Given the description of an element on the screen output the (x, y) to click on. 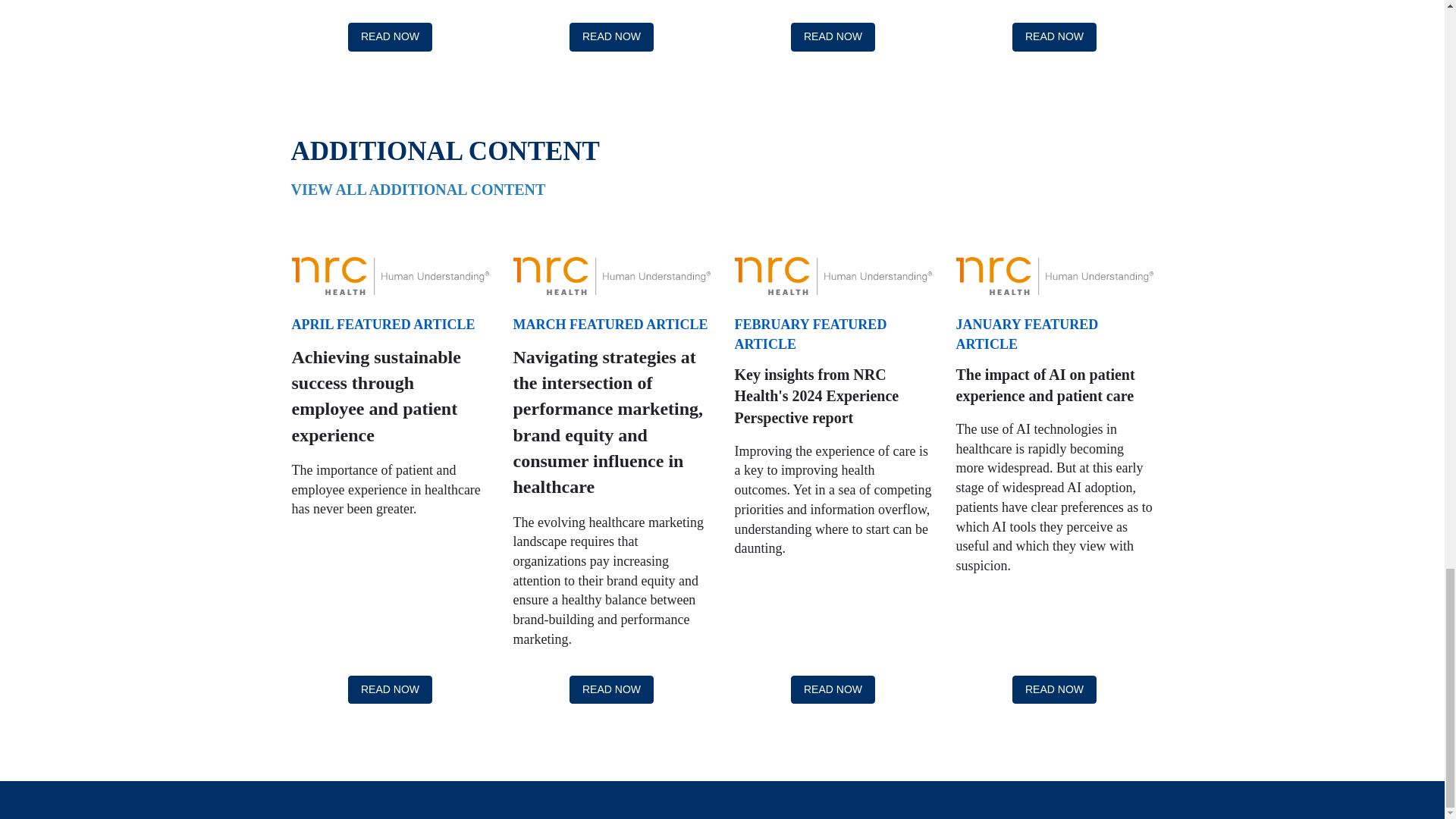
READ NOW (611, 689)
READ NOW (389, 689)
READ NOW (611, 36)
READ NOW (389, 36)
READ NOW (832, 36)
VIEW ALL ADDITIONAL CONTENT (418, 189)
READ NOW (832, 689)
READ NOW (1053, 36)
READ NOW (1053, 689)
